Given the description of an element on the screen output the (x, y) to click on. 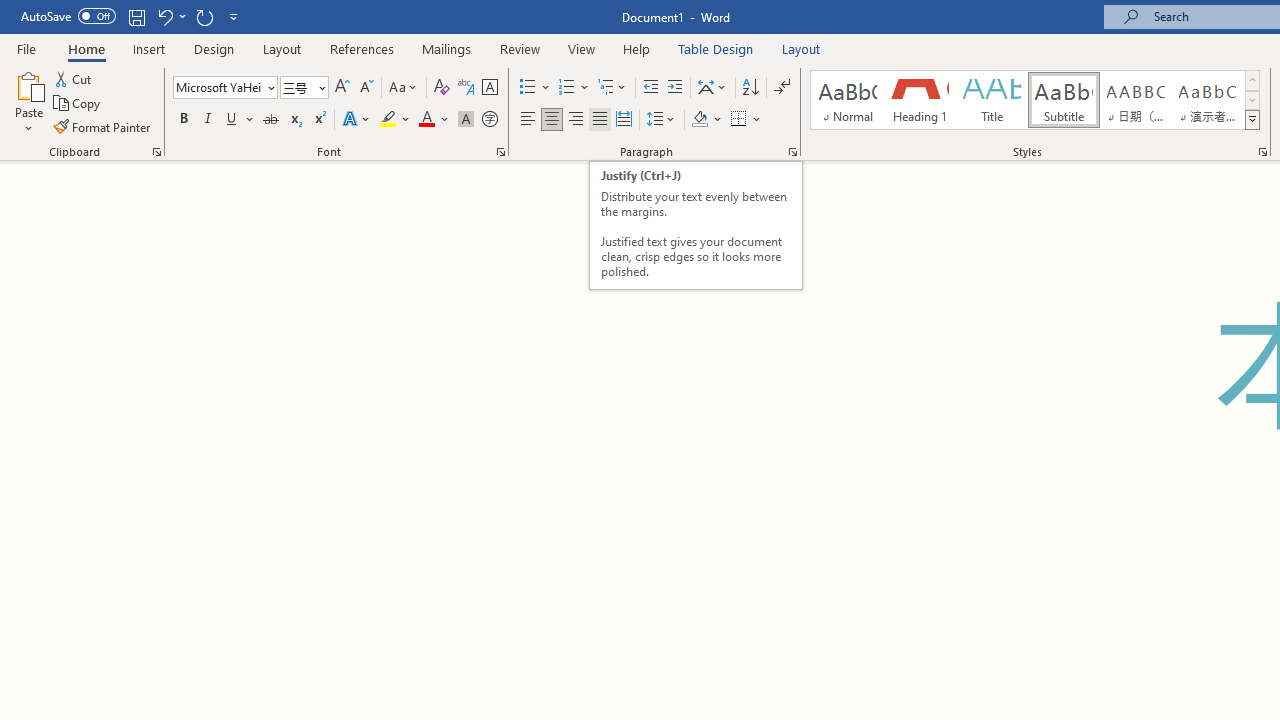
Styles (1252, 120)
Multilevel List (613, 87)
Bold (183, 119)
Cut (73, 78)
Italic (207, 119)
Change Case (404, 87)
Text Effects and Typography (357, 119)
Character Shading (465, 119)
